Given the description of an element on the screen output the (x, y) to click on. 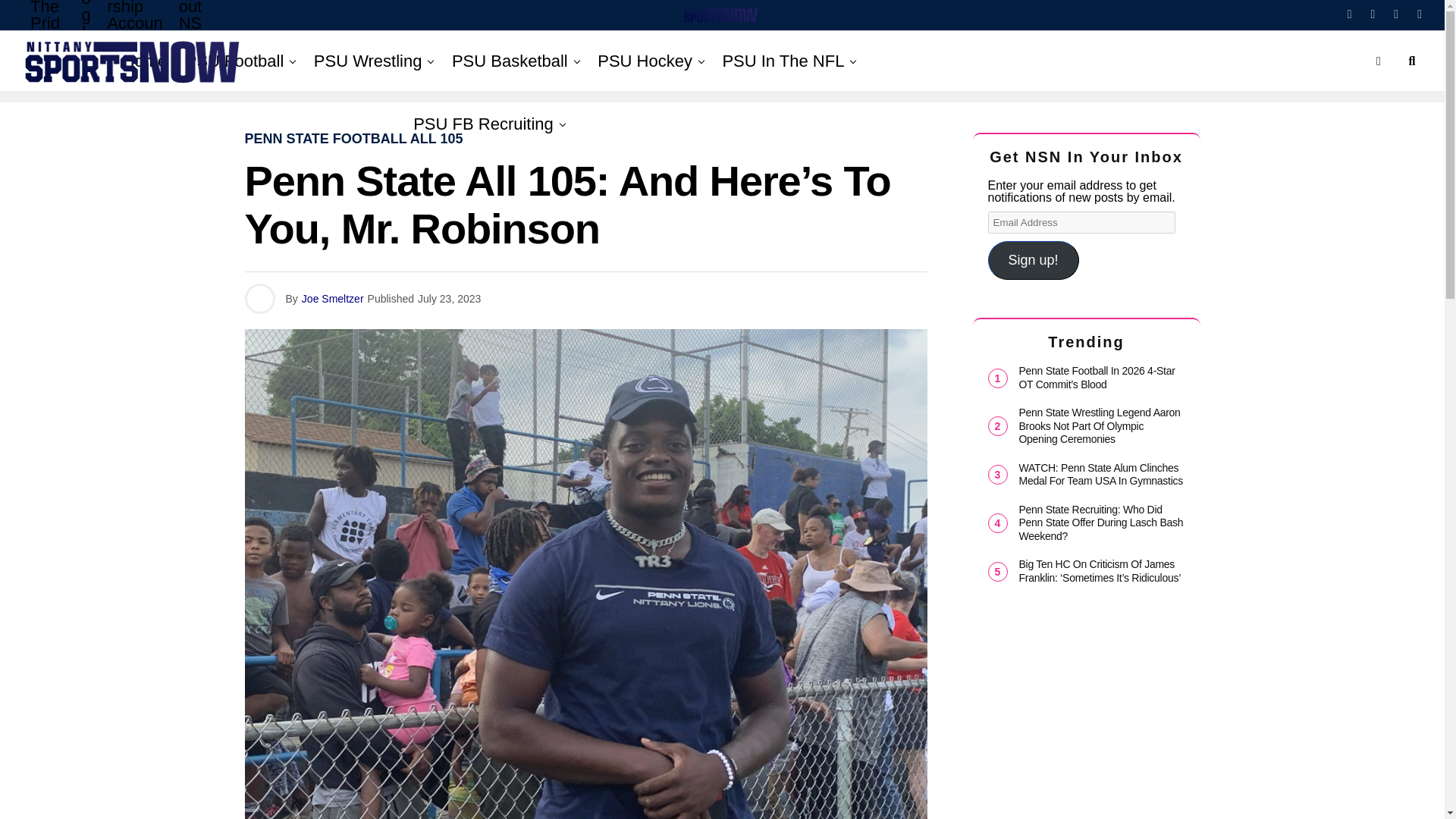
Membership Account (134, 35)
Log In (86, 39)
About NSN (191, 35)
PSU Wrestling (367, 61)
PSU Football (234, 61)
Join The Pride (48, 35)
Posts by Joe Smeltzer (332, 298)
Home (144, 61)
